Given the description of an element on the screen output the (x, y) to click on. 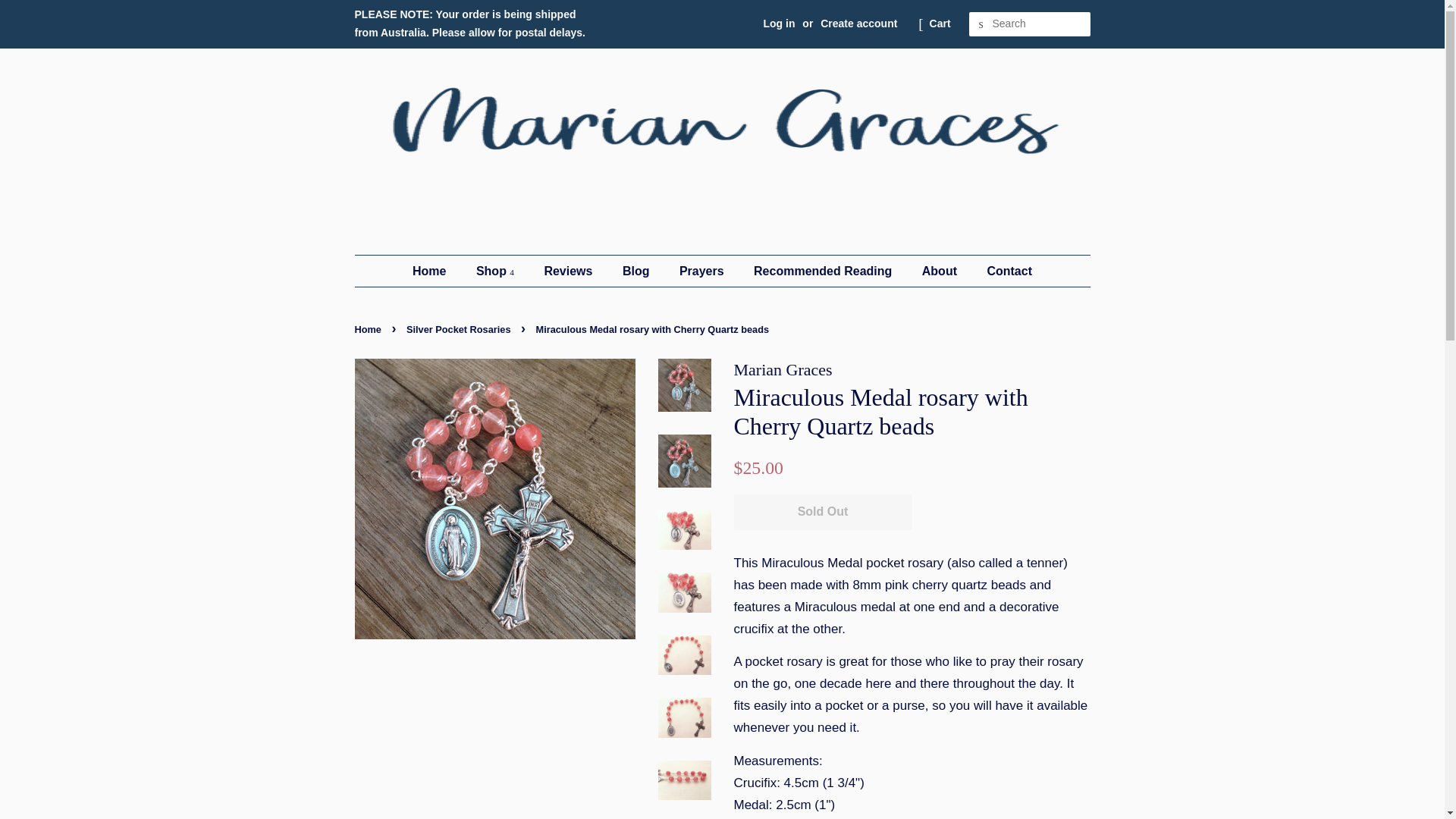
Home (436, 270)
Shop (496, 270)
Search (980, 24)
Cart (940, 24)
Log in (778, 23)
Create account (858, 23)
Back to the frontpage (370, 328)
